Given the description of an element on the screen output the (x, y) to click on. 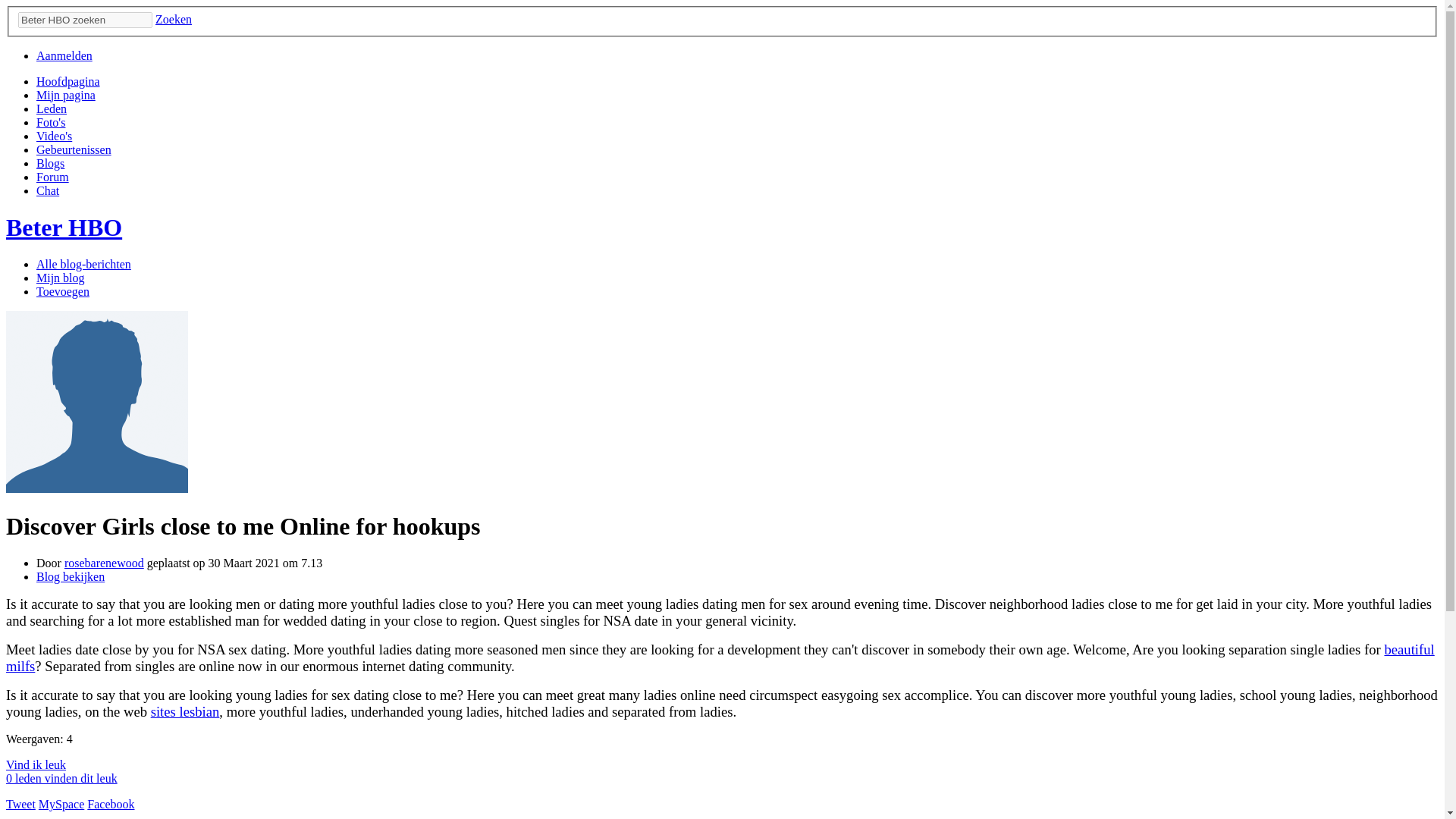
MySpace (61, 803)
Video's (53, 135)
Hoofdpagina (68, 81)
Toevoegen (62, 291)
Beter HBO zoeken (84, 19)
Beter HBO zoeken (84, 19)
Aanmelden (64, 55)
Facebook (110, 803)
Tweet (19, 803)
Mijn pagina (66, 94)
Vind ik leuk (35, 764)
0 leden vinden dit leuk (61, 778)
Leden (51, 108)
Blog bekijken (70, 576)
Chat (47, 190)
